Given the description of an element on the screen output the (x, y) to click on. 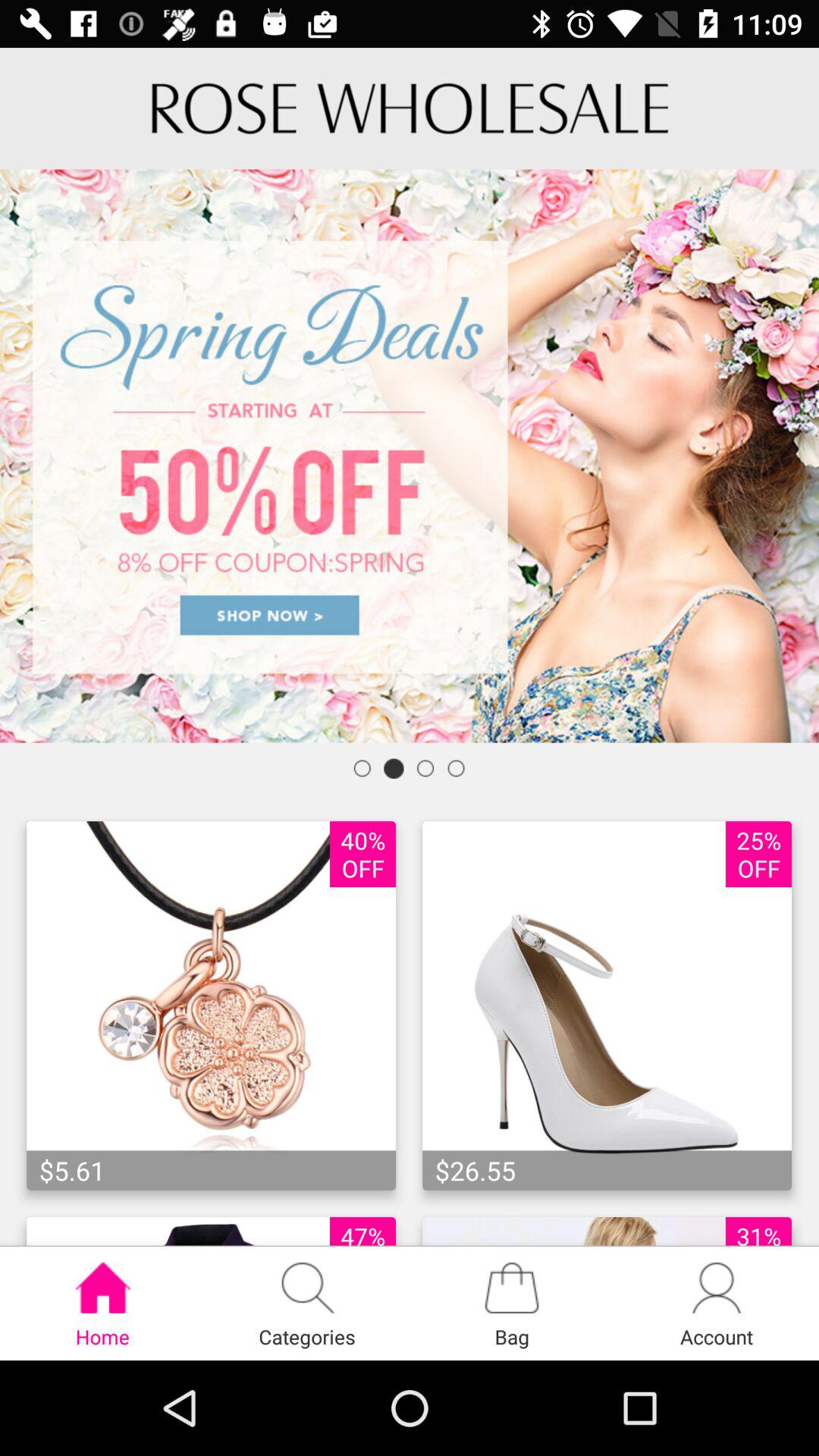
select advertisement (409, 455)
